Given the description of an element on the screen output the (x, y) to click on. 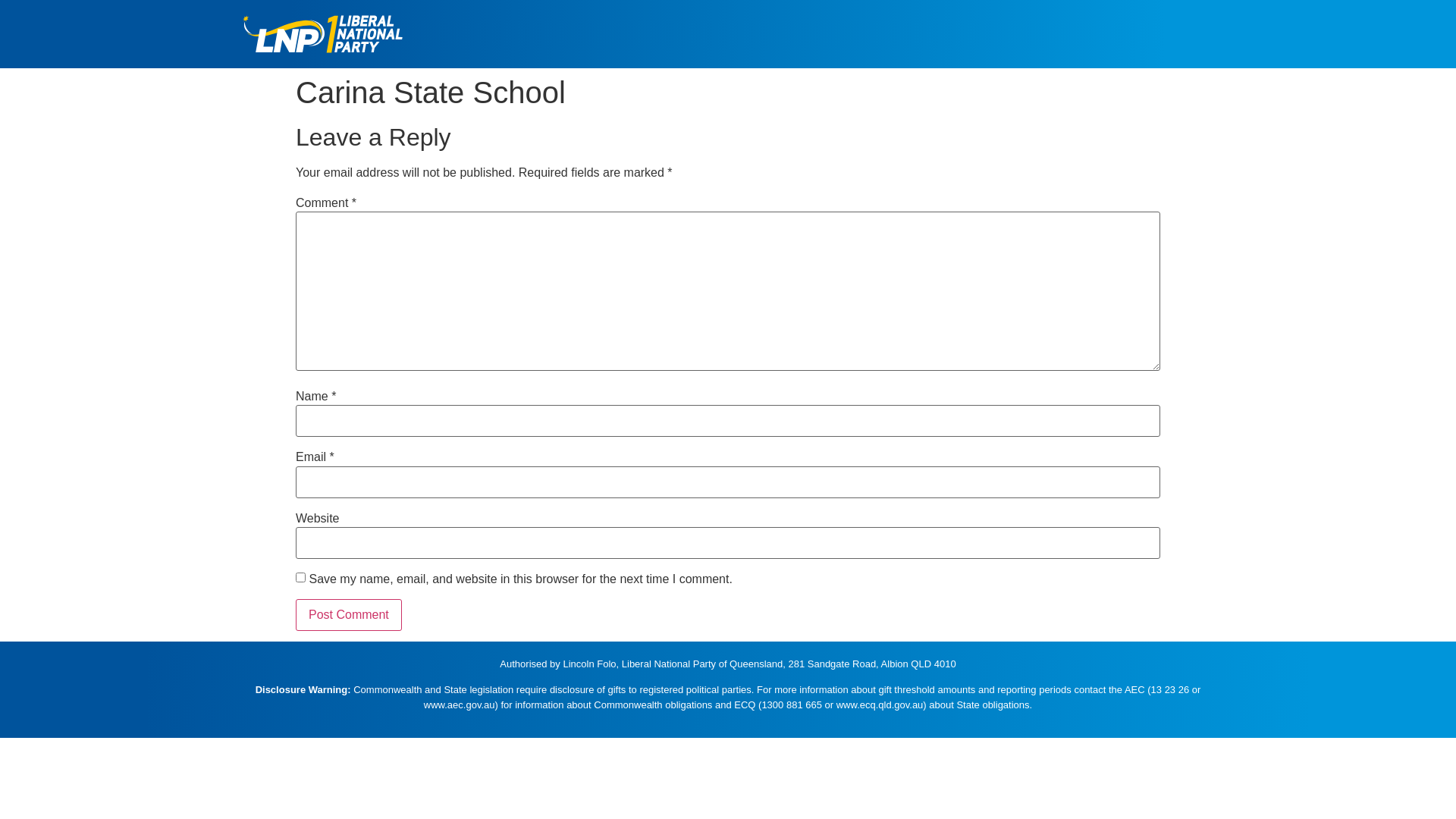
Post Comment Element type: text (348, 614)
